Given the description of an element on the screen output the (x, y) to click on. 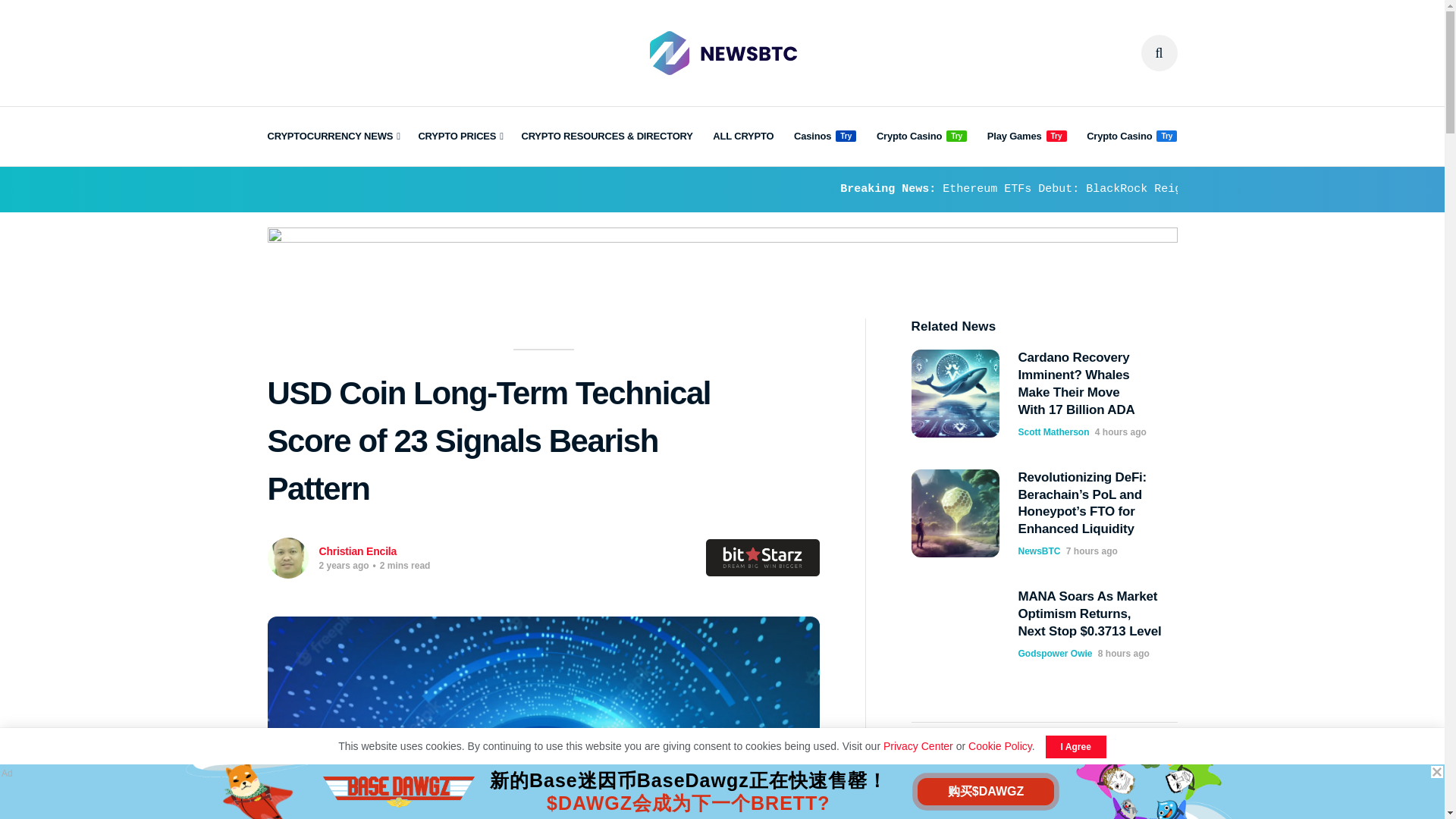
ALL CRYPTO (743, 136)
CRYPTO PRICES (458, 136)
CRYPTOCURRENCY NEWS (331, 136)
